Given the description of an element on the screen output the (x, y) to click on. 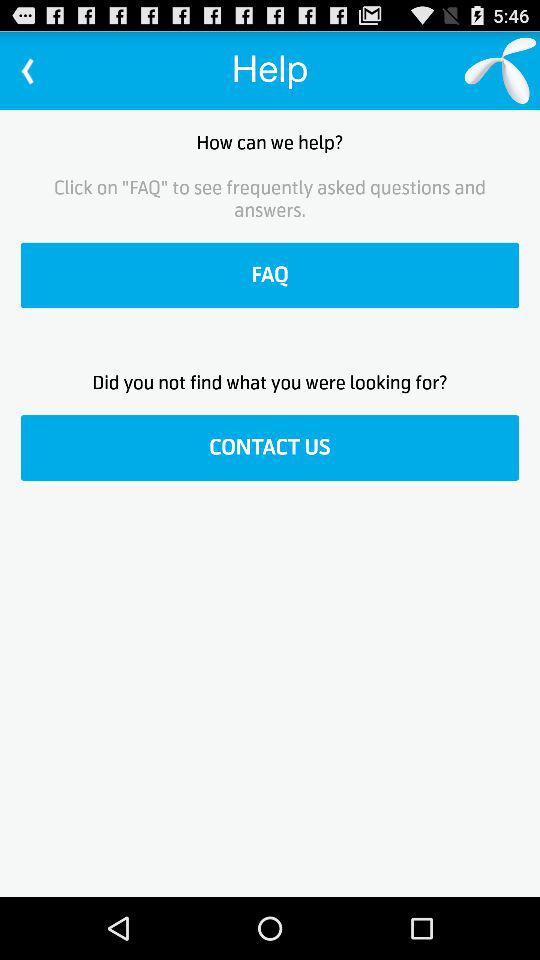
jump to contact us (270, 447)
